Given the description of an element on the screen output the (x, y) to click on. 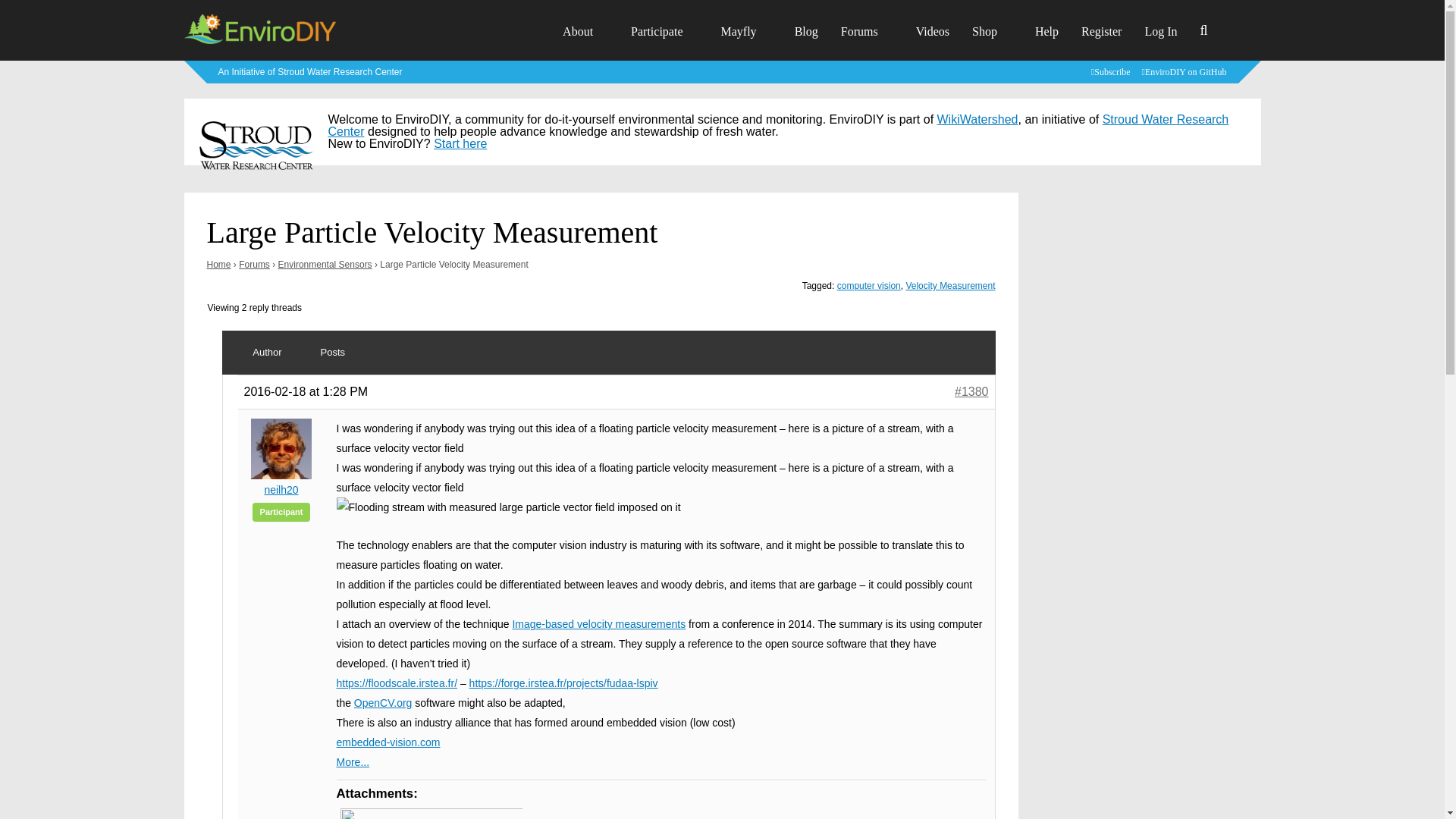
EnviroDIY (258, 42)
SurfaceVelocityVectorField.jpg (430, 813)
Learn more (310, 71)
EnviroDIY on GitHub (1185, 71)
